Given the description of an element on the screen output the (x, y) to click on. 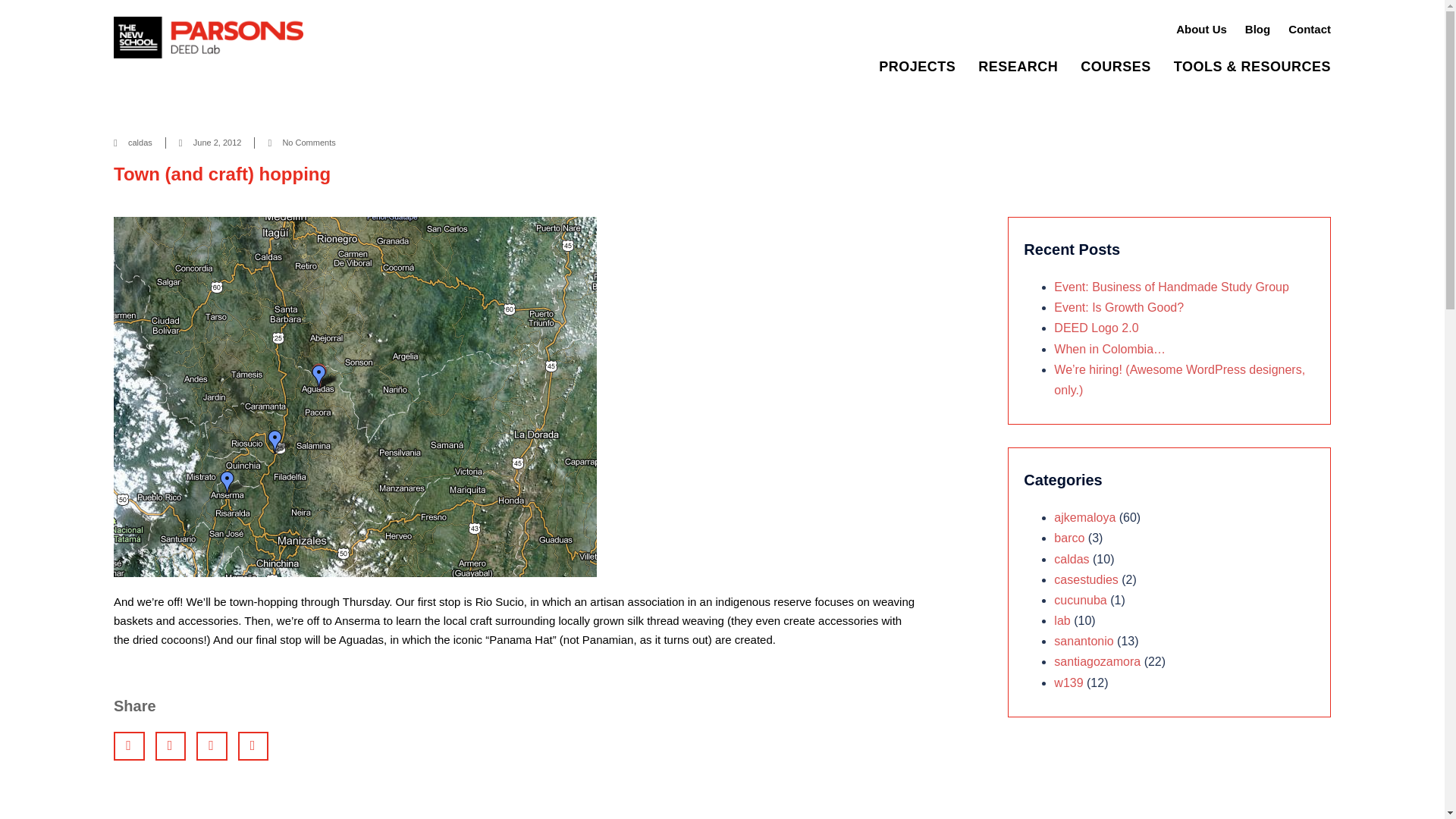
caldas (140, 142)
About Us (1201, 29)
RESEARCH (1018, 66)
Contact (1309, 29)
PROJECTS (917, 66)
COURSES (1115, 66)
No Comments (300, 142)
Blog (1256, 29)
